Given the description of an element on the screen output the (x, y) to click on. 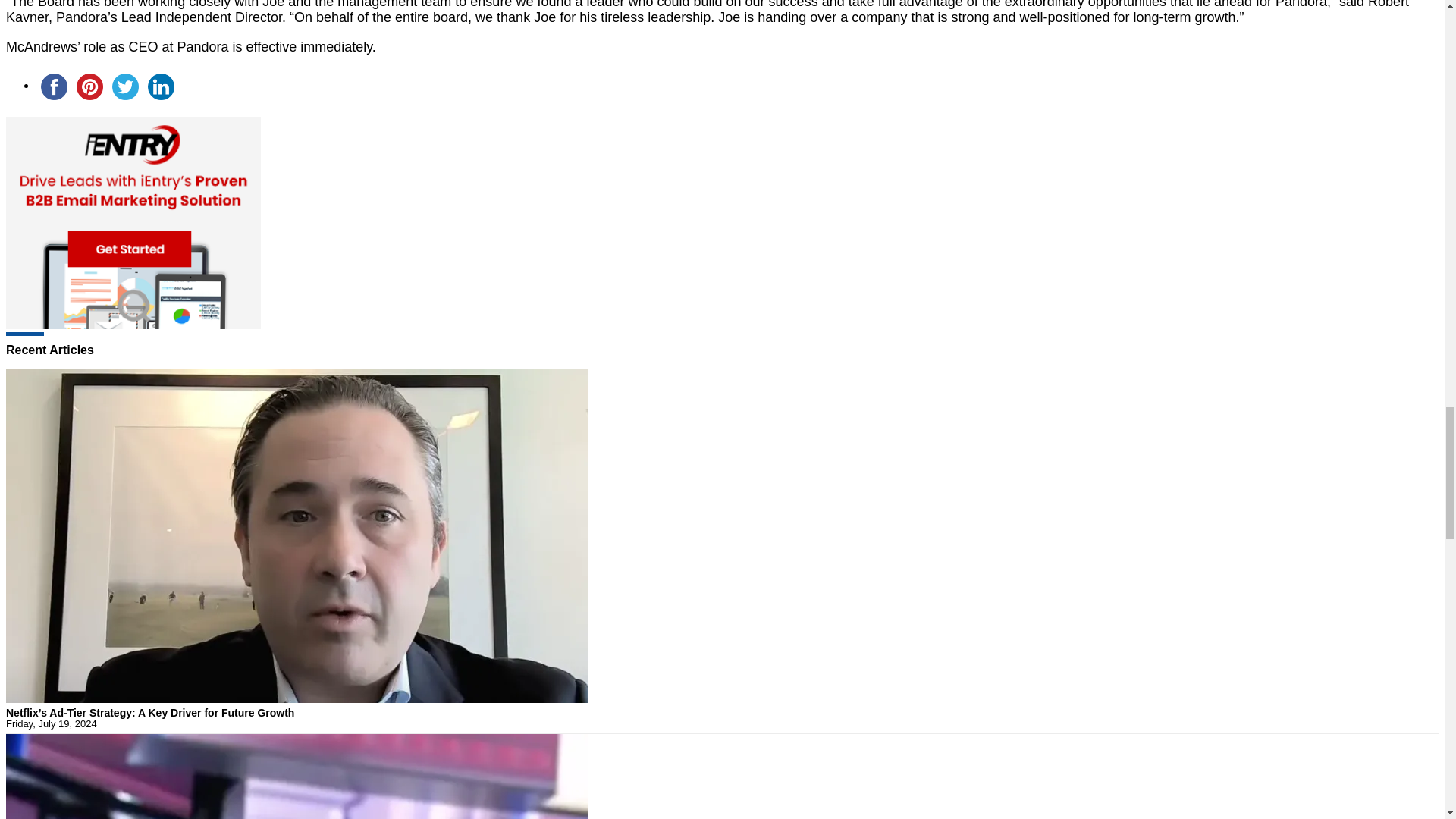
twitter (124, 86)
facebook (53, 86)
pinterest (89, 86)
